Given the description of an element on the screen output the (x, y) to click on. 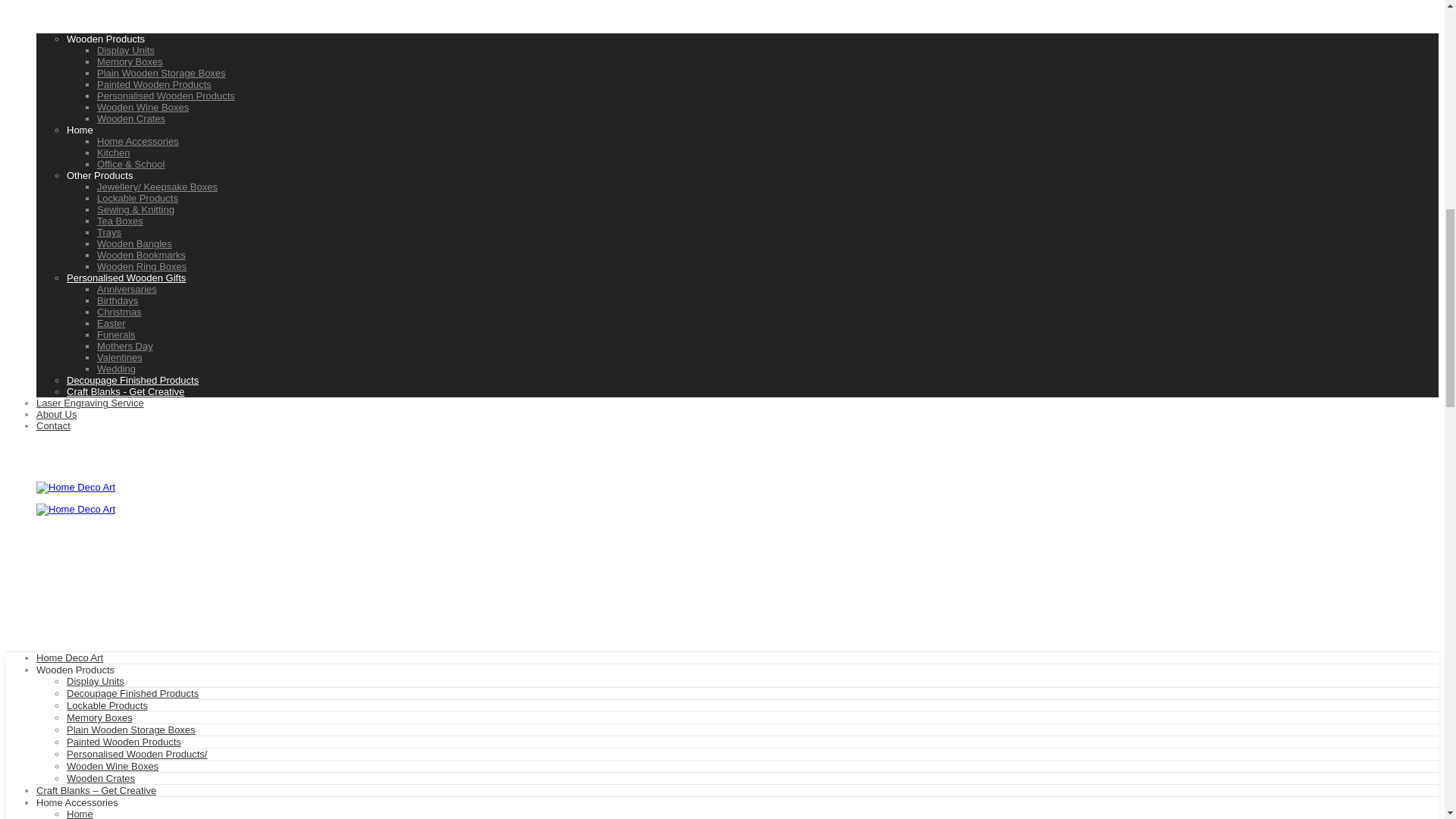
Display Units (125, 50)
Personalised Wooden Products (165, 95)
Painted Wooden Products (154, 84)
Wooden Bangles (134, 243)
Wooden Products (105, 39)
Memory Boxes (130, 61)
Trays (108, 232)
Lockable Products (137, 197)
Wooden Crates (131, 118)
Other Products (99, 174)
